Given the description of an element on the screen output the (x, y) to click on. 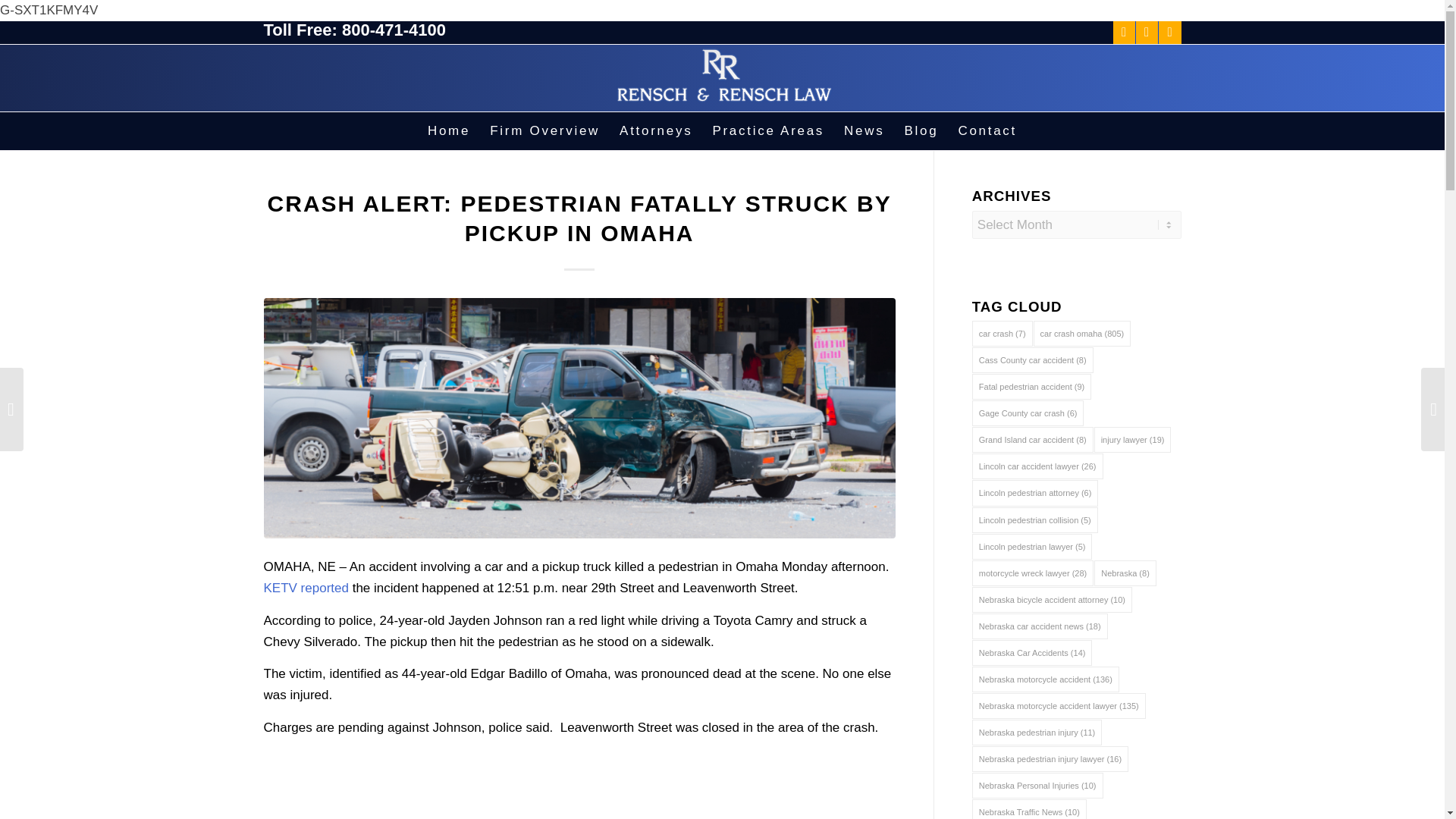
LinkedIn (1169, 32)
Facebook (1124, 32)
Home (448, 130)
Twitter (1146, 32)
logo-rensch-law (722, 77)
Practice Areas (767, 130)
Toll Free: 800-471-4100 (354, 29)
Attorneys (655, 130)
Firm Overview (545, 130)
